Given the description of an element on the screen output the (x, y) to click on. 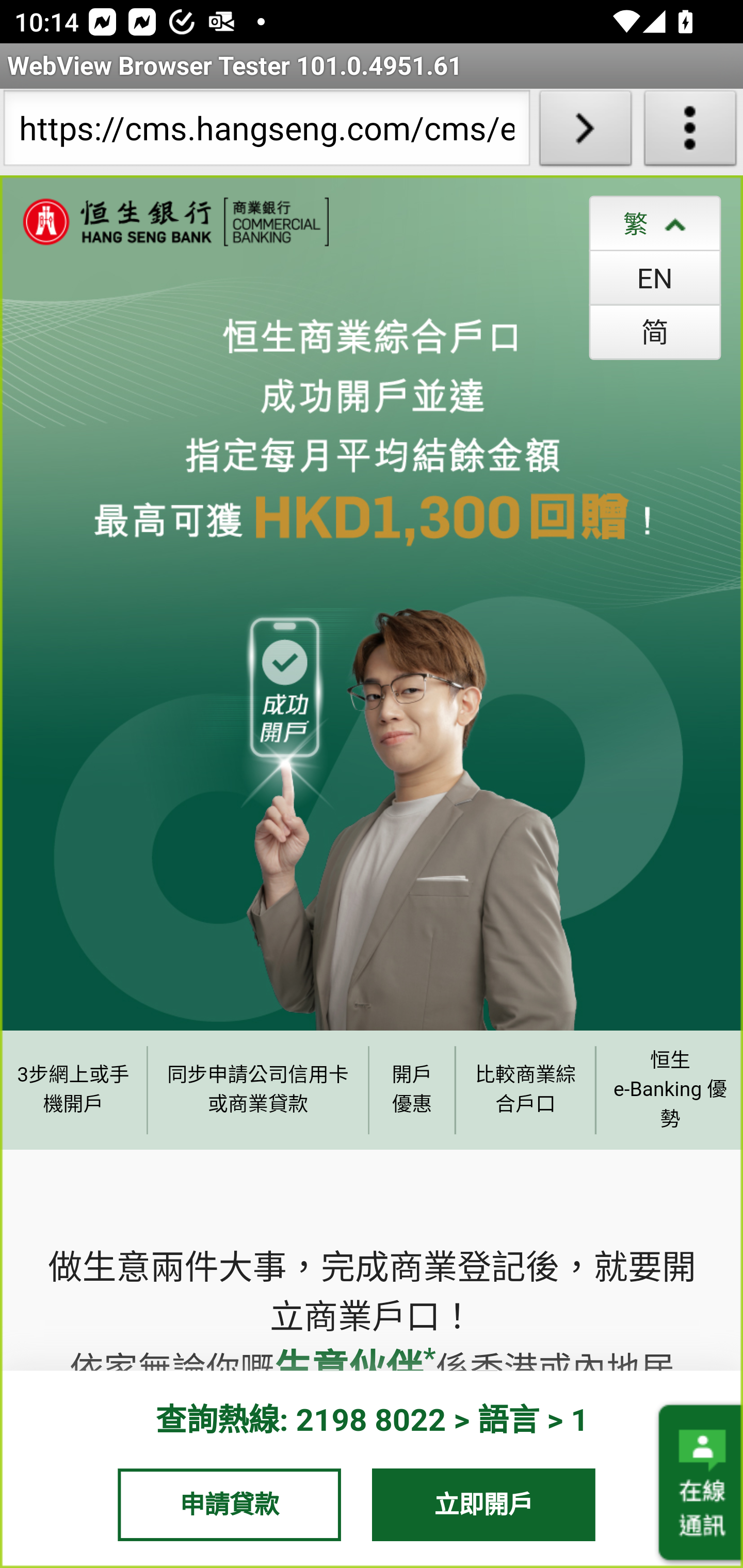
Load URL (585, 132)
About WebView (690, 132)
home (164, 222)
繁  繁    (655, 223)
EN (655, 277)
简 (655, 331)
恒生e‑Banking 優勢 (669, 1089)
3步網上或手機開戶 (73, 1089)
同步申請公司信用卡或商業貸款 (257, 1089)
開戶優惠 (411, 1089)
比較商業綜合戶口 (525, 1089)
在線通訊 (698, 1483)
申請貸款 (229, 1504)
立即開戶 (484, 1504)
